Given the description of an element on the screen output the (x, y) to click on. 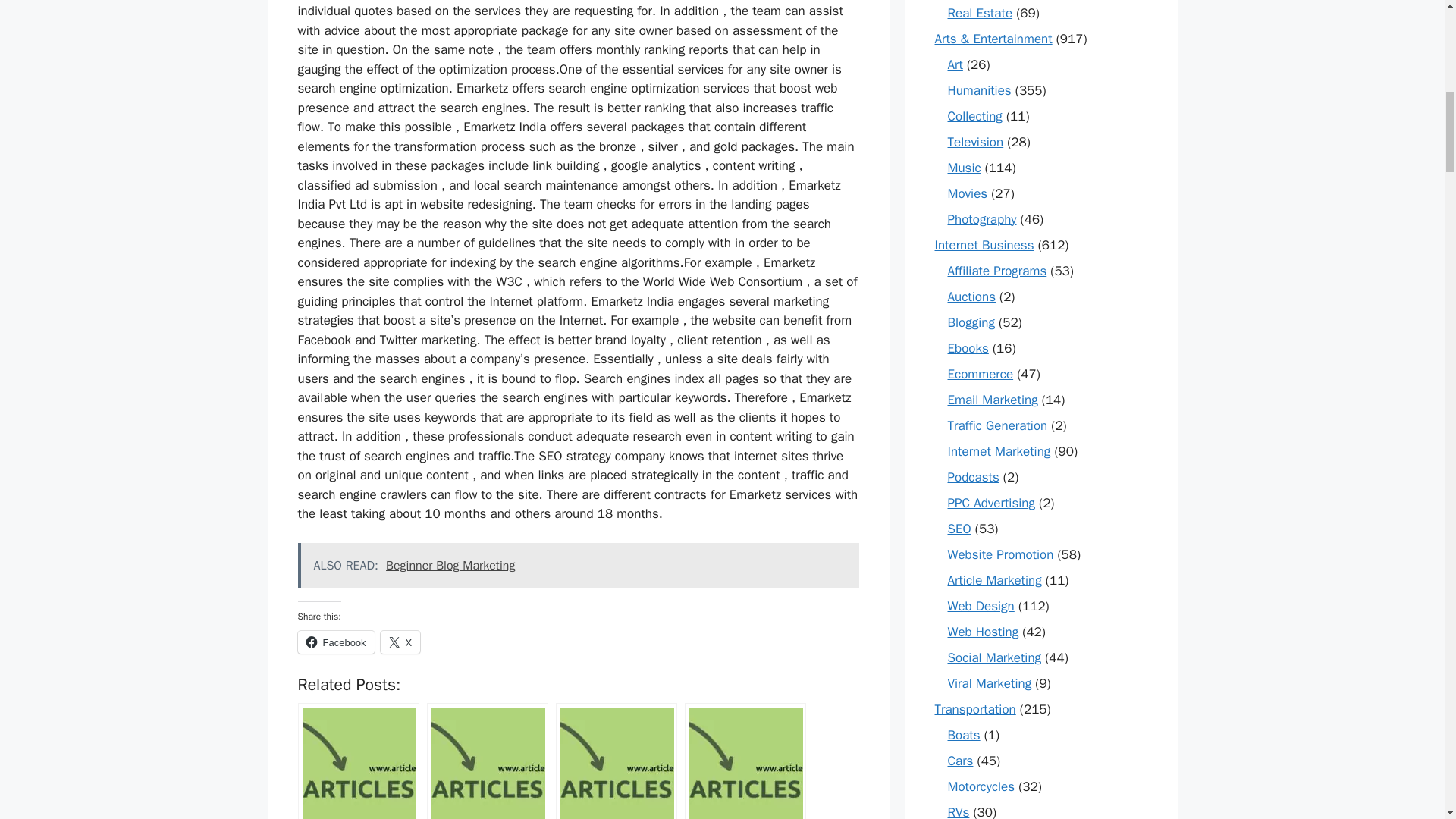
X (400, 641)
Increase Your Website Traffic through a Leading SEO company (358, 760)
ALSO READ:  Beginner Blog Marketing (578, 565)
Increase Your Website Visibility with a Primed SEO Company (487, 760)
Facebook (335, 641)
Click to share on X (400, 641)
The best seo training courses india for a perky career (616, 760)
Increase Your Website Visibility with a Primed SEO Company (487, 760)
Increase Your Website Traffic through a Leading SEO company (358, 760)
